Given the description of an element on the screen output the (x, y) to click on. 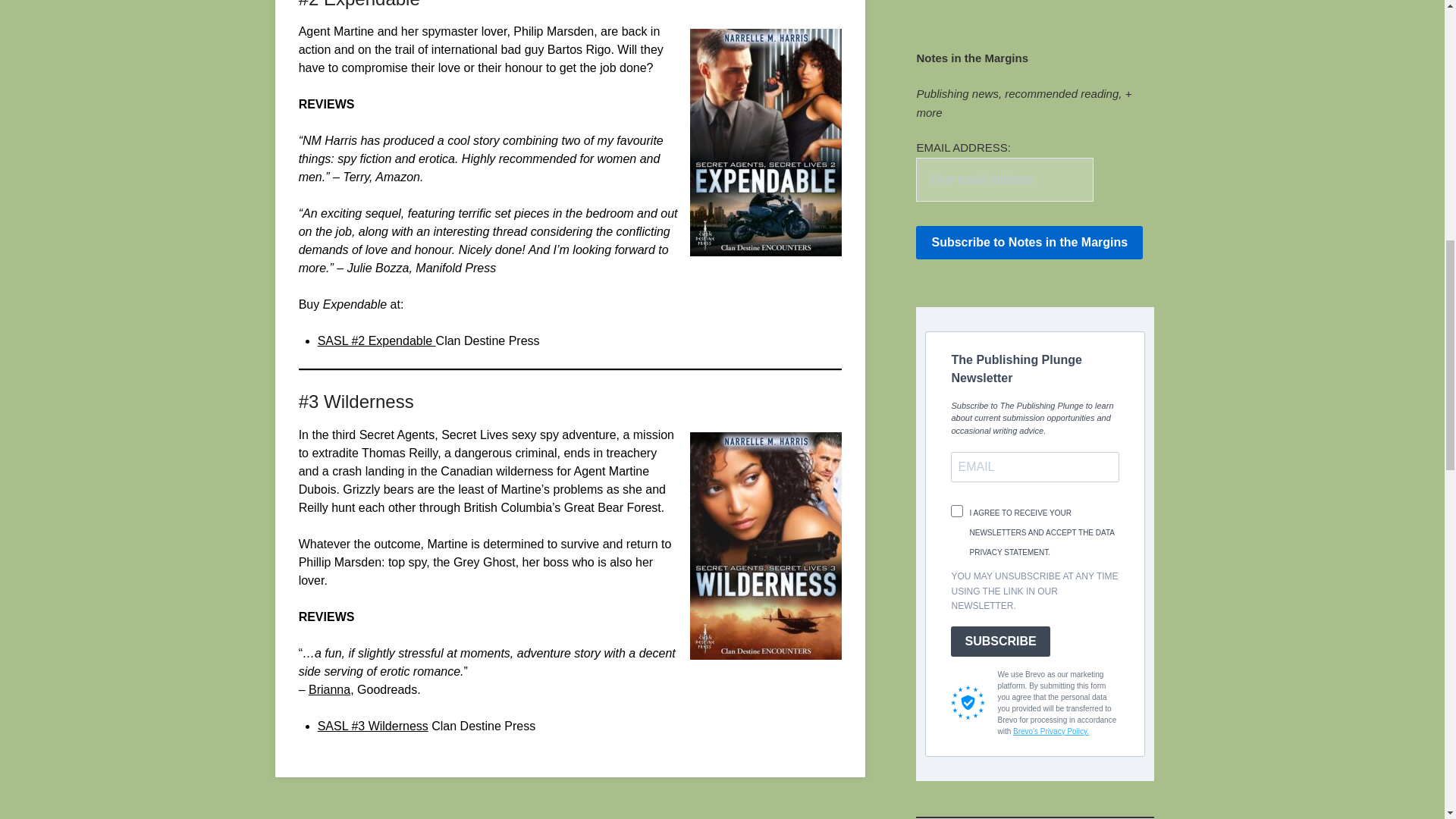
Brianna (329, 689)
Brevo's Privacy Policy. (1051, 731)
Subscribe to Notes in the Margins (1028, 242)
Subscribe to Notes in the Margins (1028, 242)
SUBSCRIBE (999, 641)
